Given the description of an element on the screen output the (x, y) to click on. 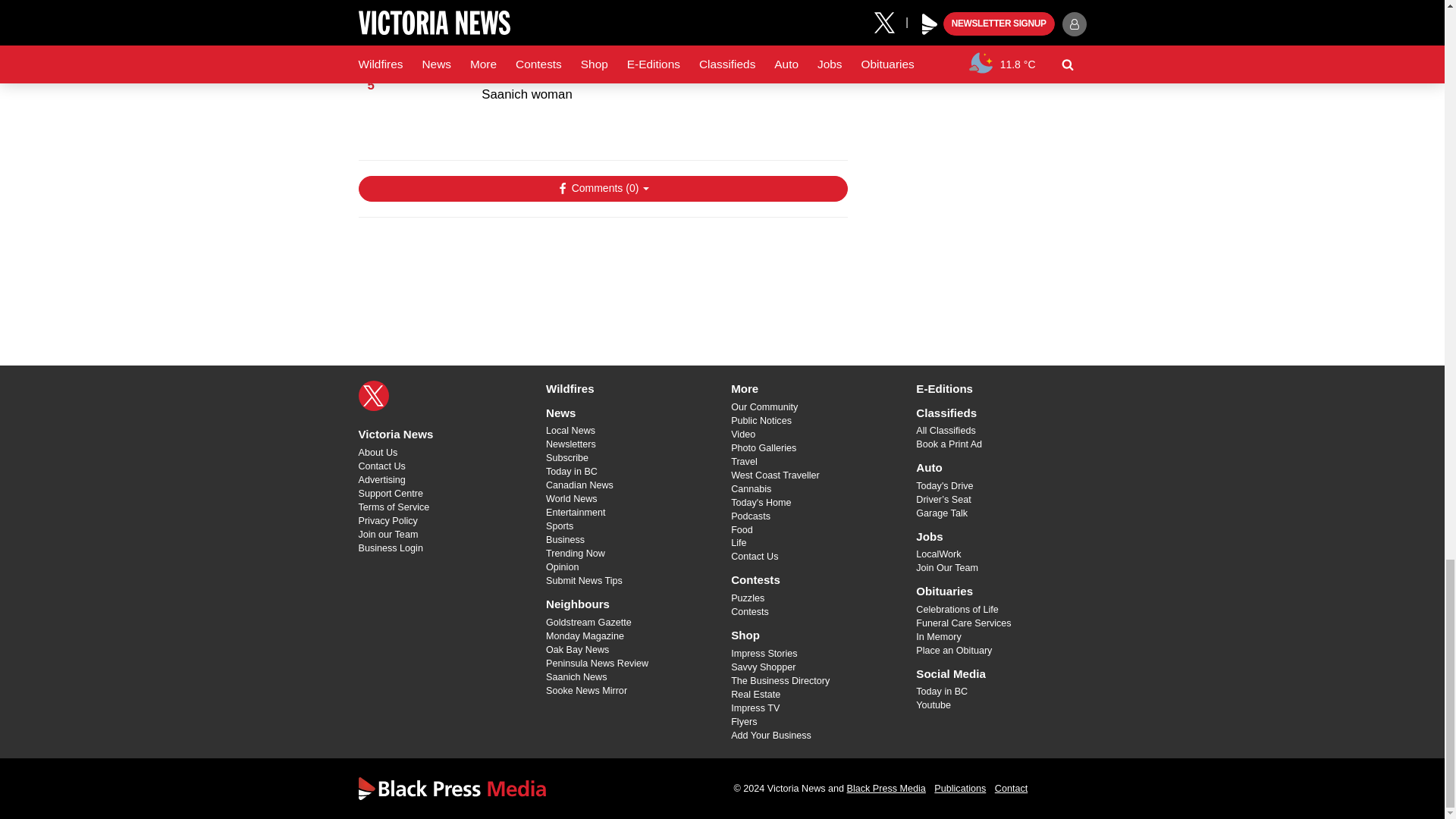
X (373, 395)
Show Comments (602, 188)
